Given the description of an element on the screen output the (x, y) to click on. 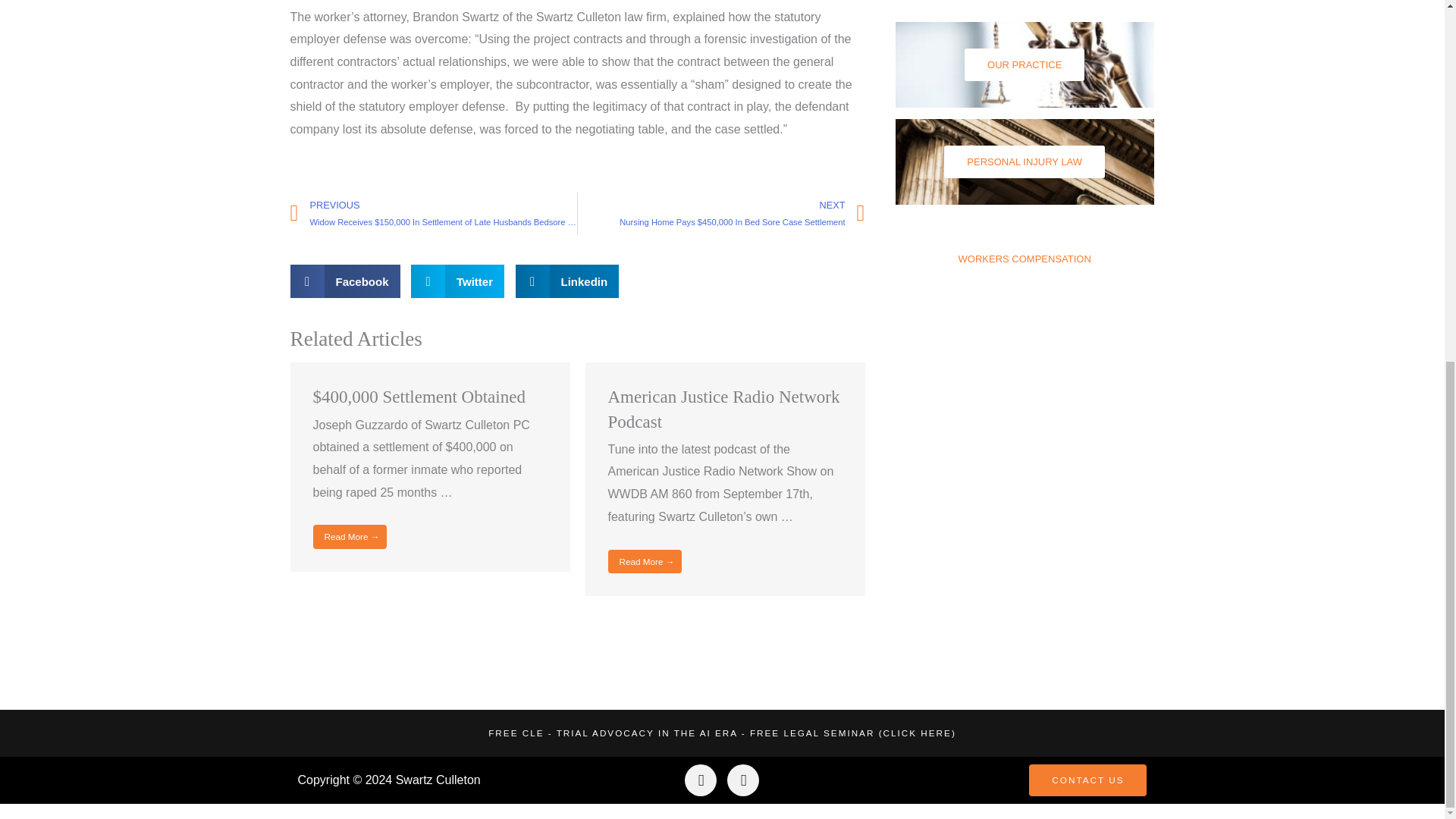
Twitter (457, 281)
Facebook (345, 281)
Linkedin (567, 281)
